Given the description of an element on the screen output the (x, y) to click on. 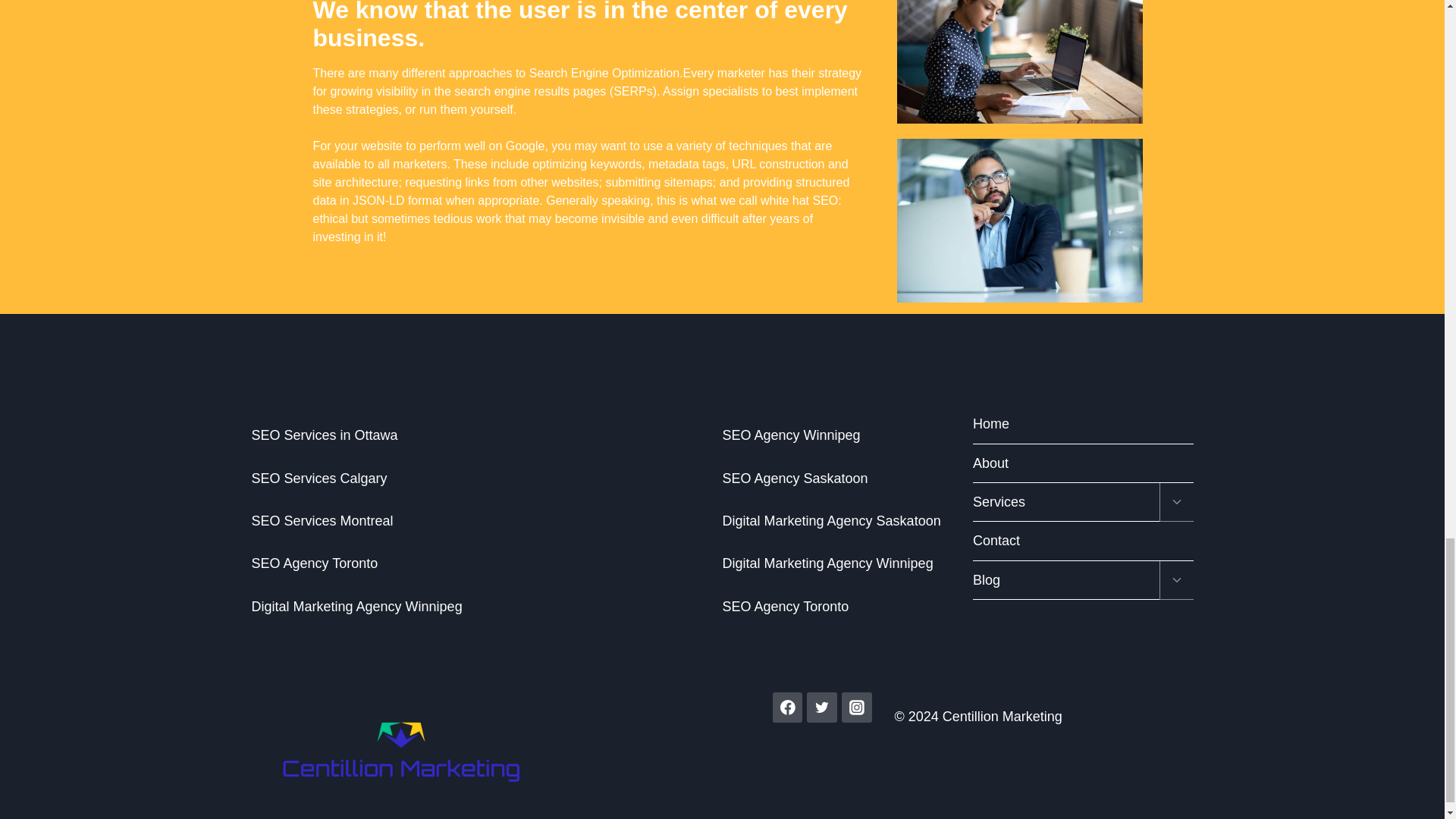
Digital Marketing Agency Winnipeg (357, 606)
Home (1082, 423)
SEO Agency Saskatoon (794, 478)
Digital Marketing Agency Winnipeg (827, 563)
SEO Agency Toronto (785, 606)
SEO Agency Toronto (314, 563)
Services (1065, 502)
SEO Agency Winnipeg (791, 435)
SEO Services Calgary (319, 478)
Digital Marketing Agency Saskatoon (831, 520)
About (1082, 463)
SEO Services Montreal (322, 520)
SEO Services in Ottawa (324, 435)
